Given the description of an element on the screen output the (x, y) to click on. 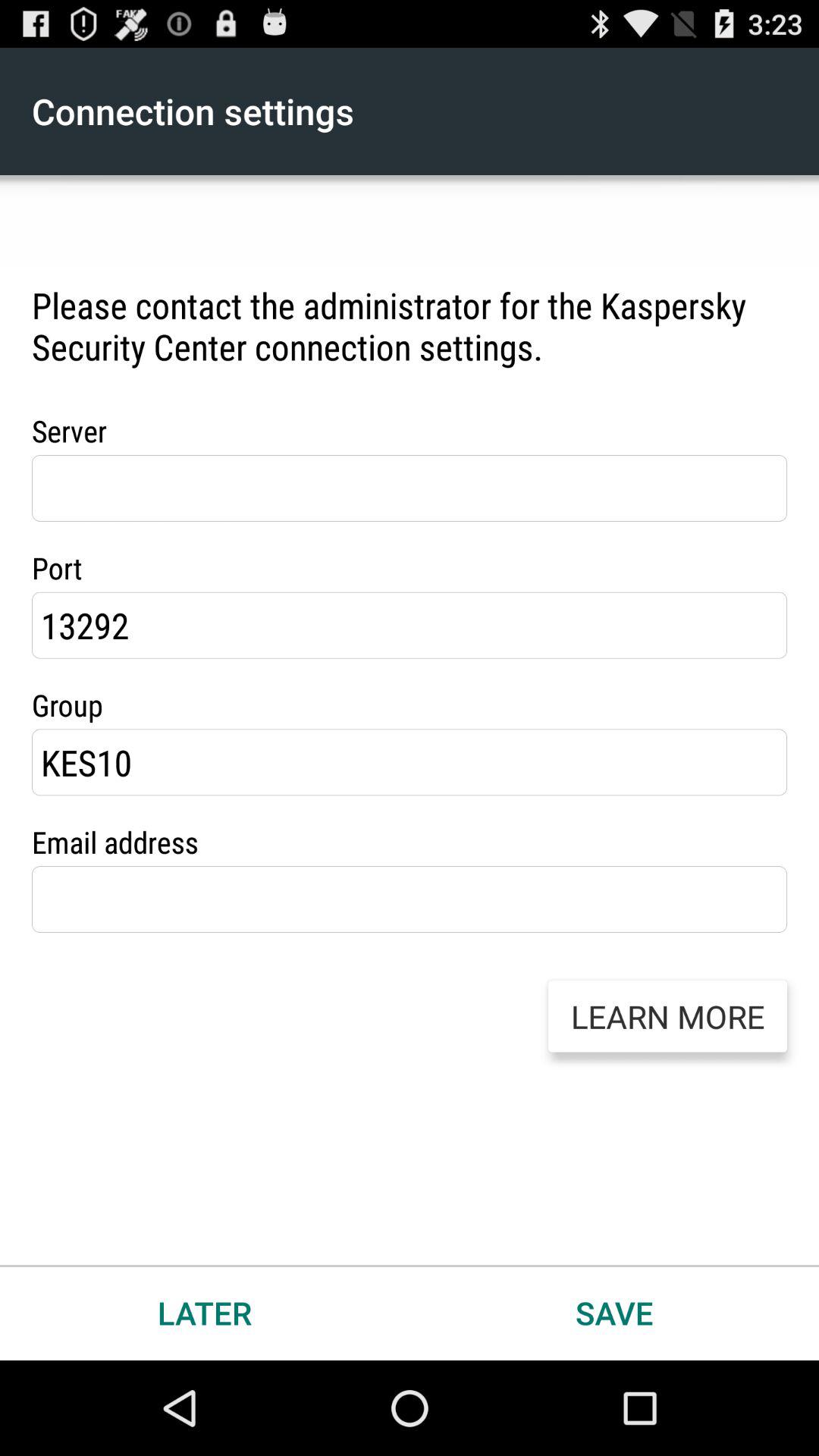
enter server information (409, 488)
